Given the description of an element on the screen output the (x, y) to click on. 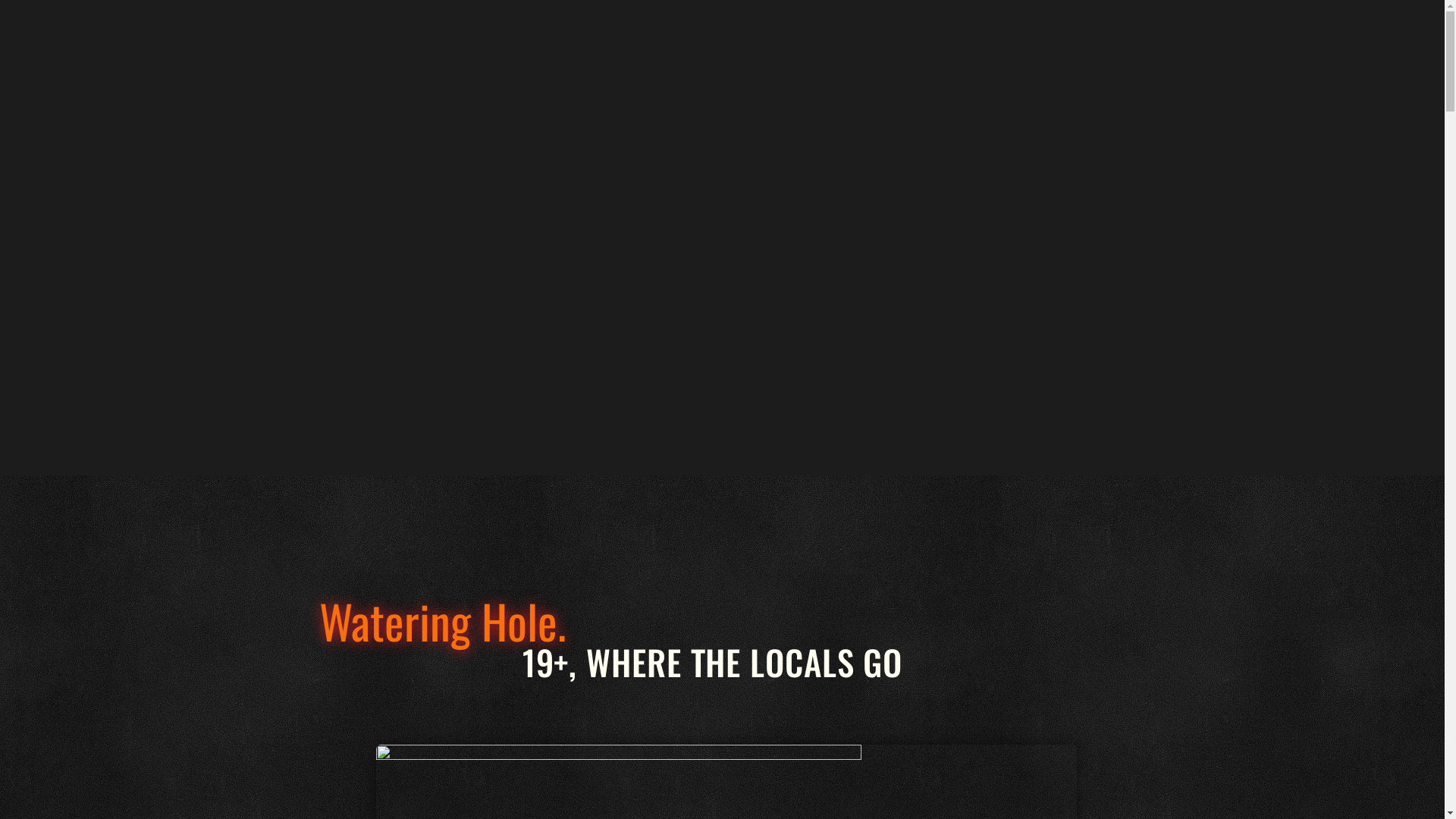
BELLEVILLES WATERING HOLE - HARBOUR CAM Element type: hover (417, 234)
